Given the description of an element on the screen output the (x, y) to click on. 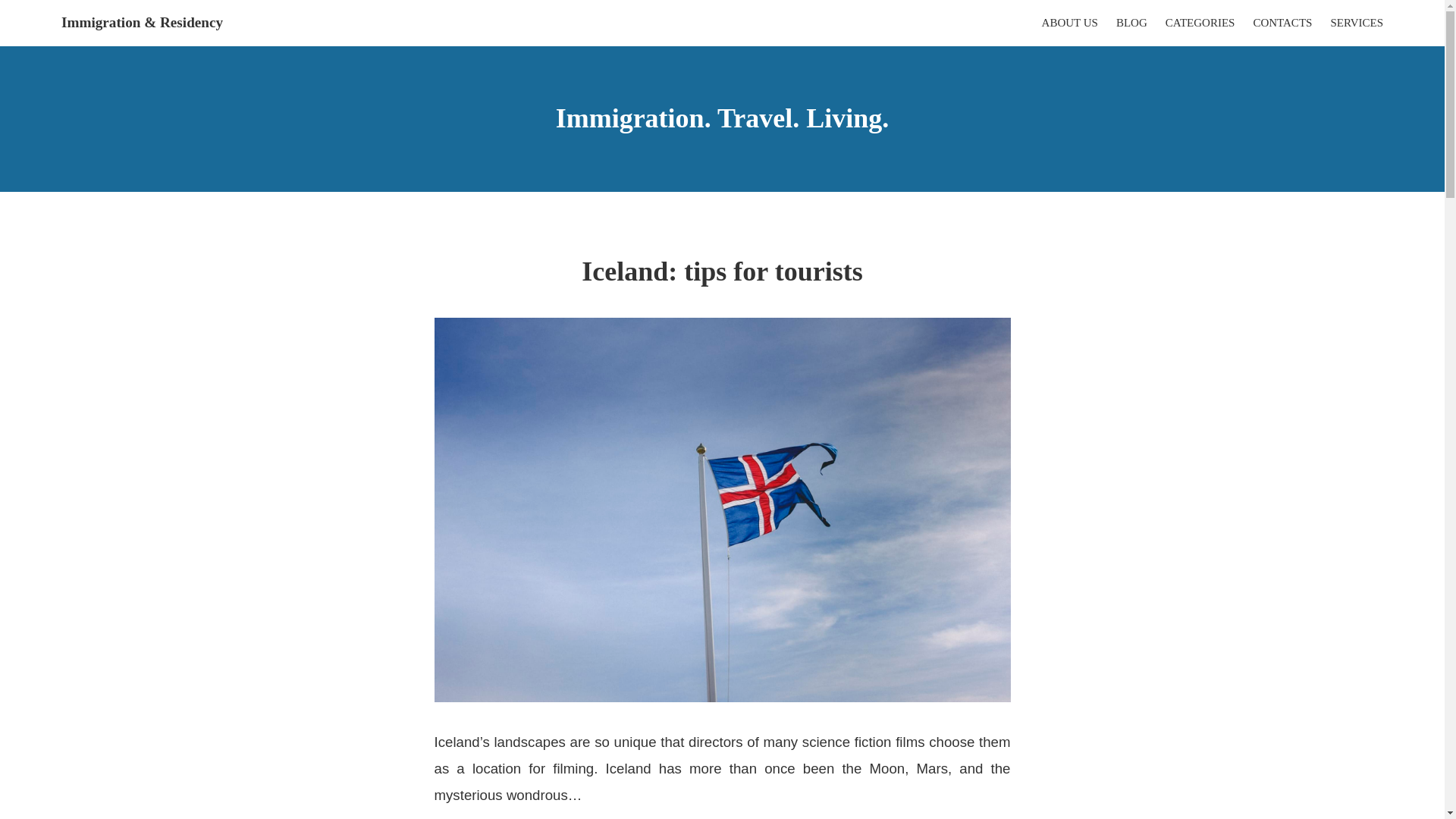
ABOUT US (1069, 22)
CATEGORIES (1200, 22)
BLOG (1131, 22)
SERVICES (1356, 22)
CONTACTS (1281, 22)
